Given the description of an element on the screen output the (x, y) to click on. 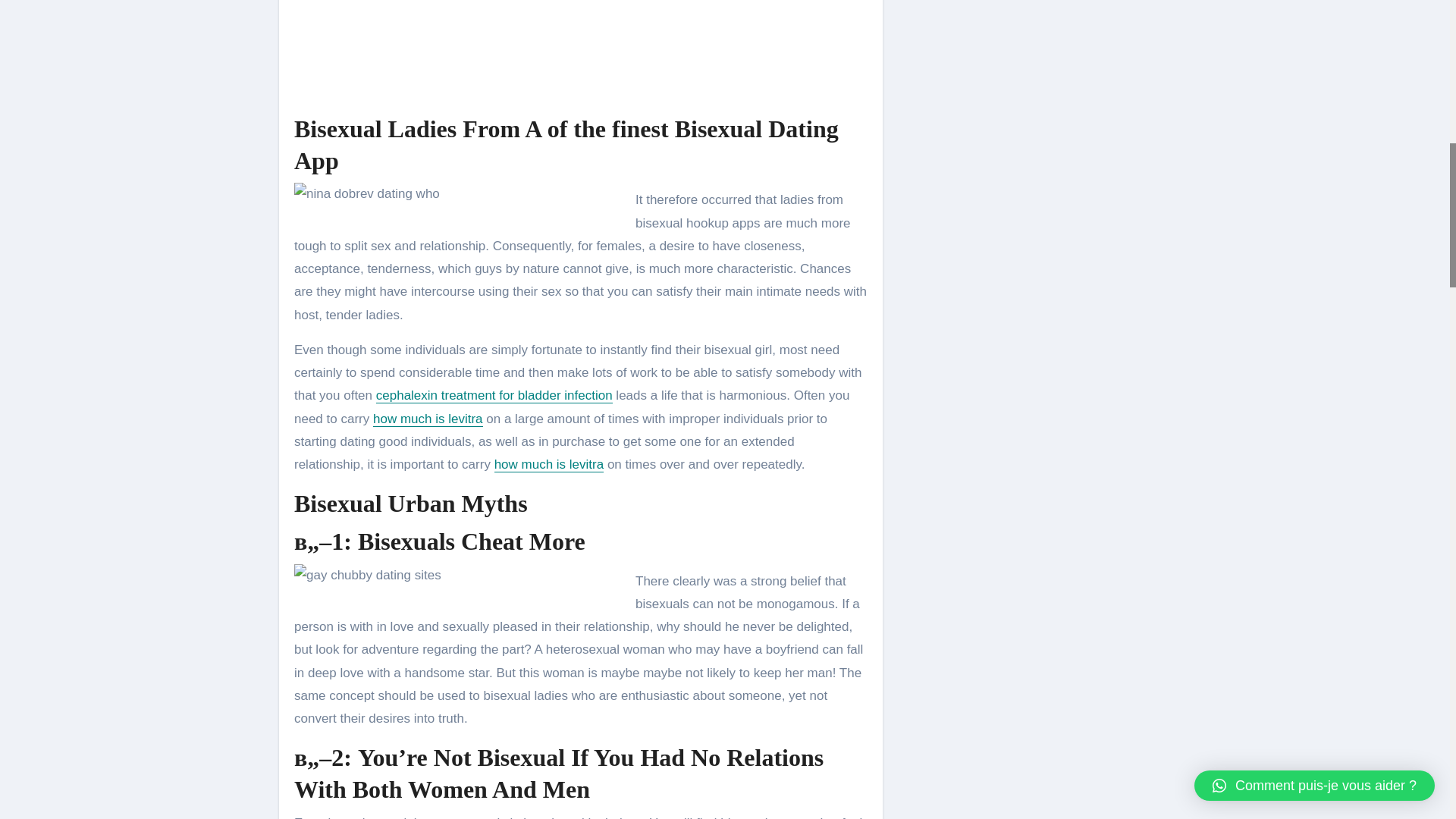
Advertisement (583, 53)
